Given the description of an element on the screen output the (x, y) to click on. 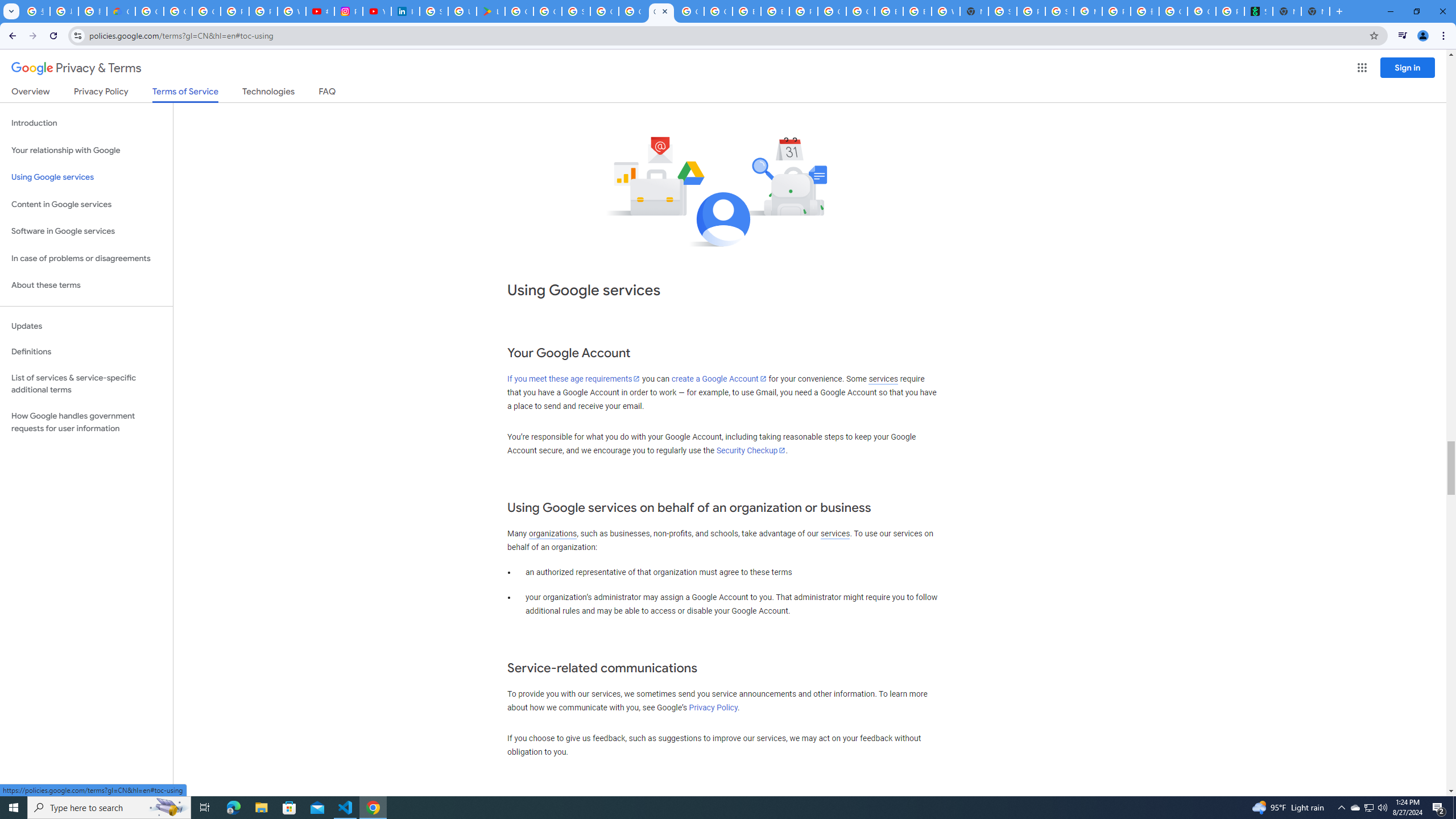
Browse Chrome as a guest - Computer - Google Chrome Help (746, 11)
Definitions (86, 352)
YouTube Culture & Trends - On The Rise: Handcam Videos (377, 11)
About these terms (86, 284)
